Given the description of an element on the screen output the (x, y) to click on. 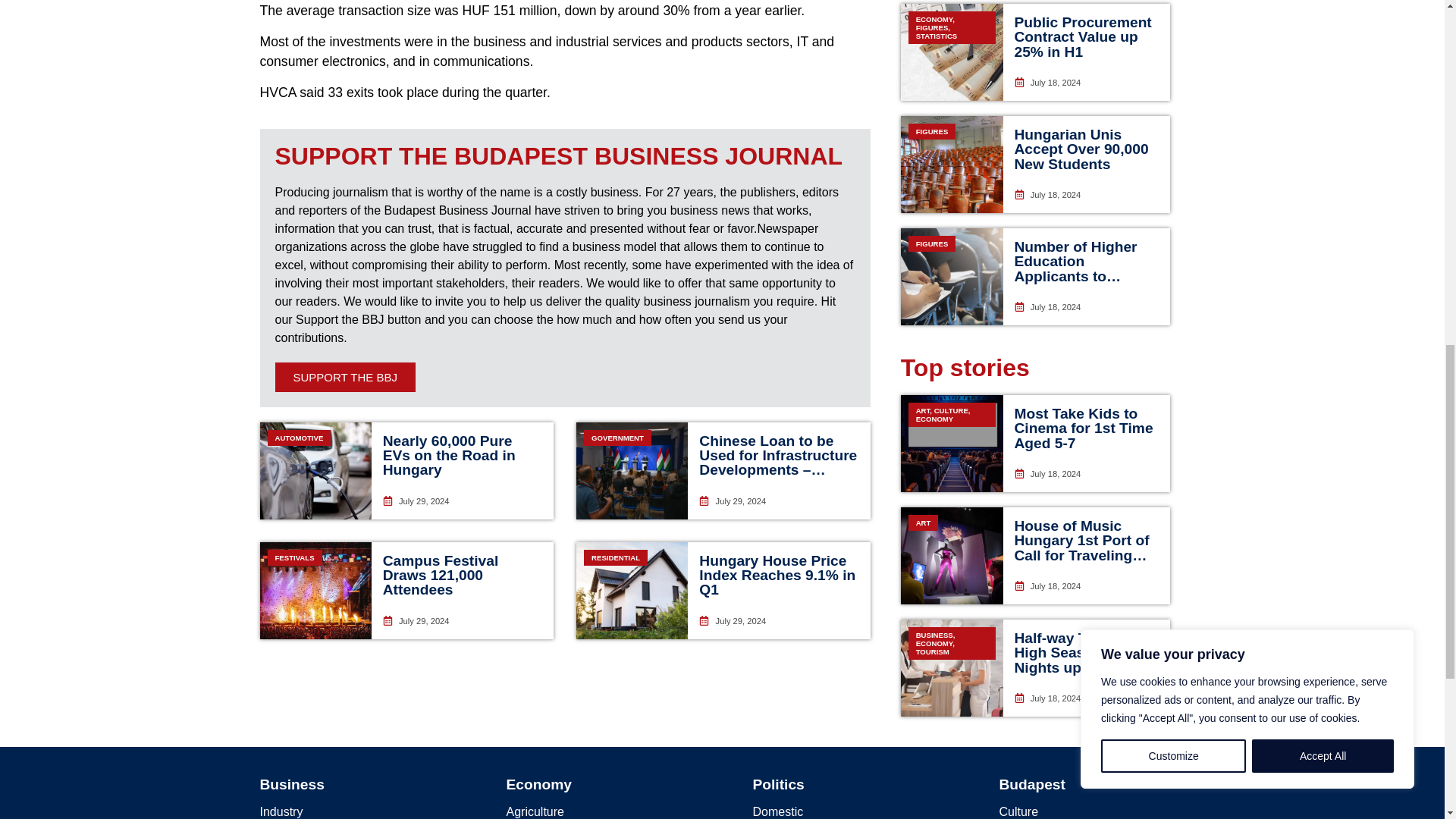
FESTIVALS (315, 590)
RESIDENTIAL (631, 590)
GOVERNMENT (631, 470)
Nearly 60,000 Pure EVs on the Road in Hungary (448, 455)
Campus Festival Draws 121,000 Attendees (440, 574)
SUPPORT THE BBJ (344, 377)
AUTOMOTIVE (315, 470)
